Given the description of an element on the screen output the (x, y) to click on. 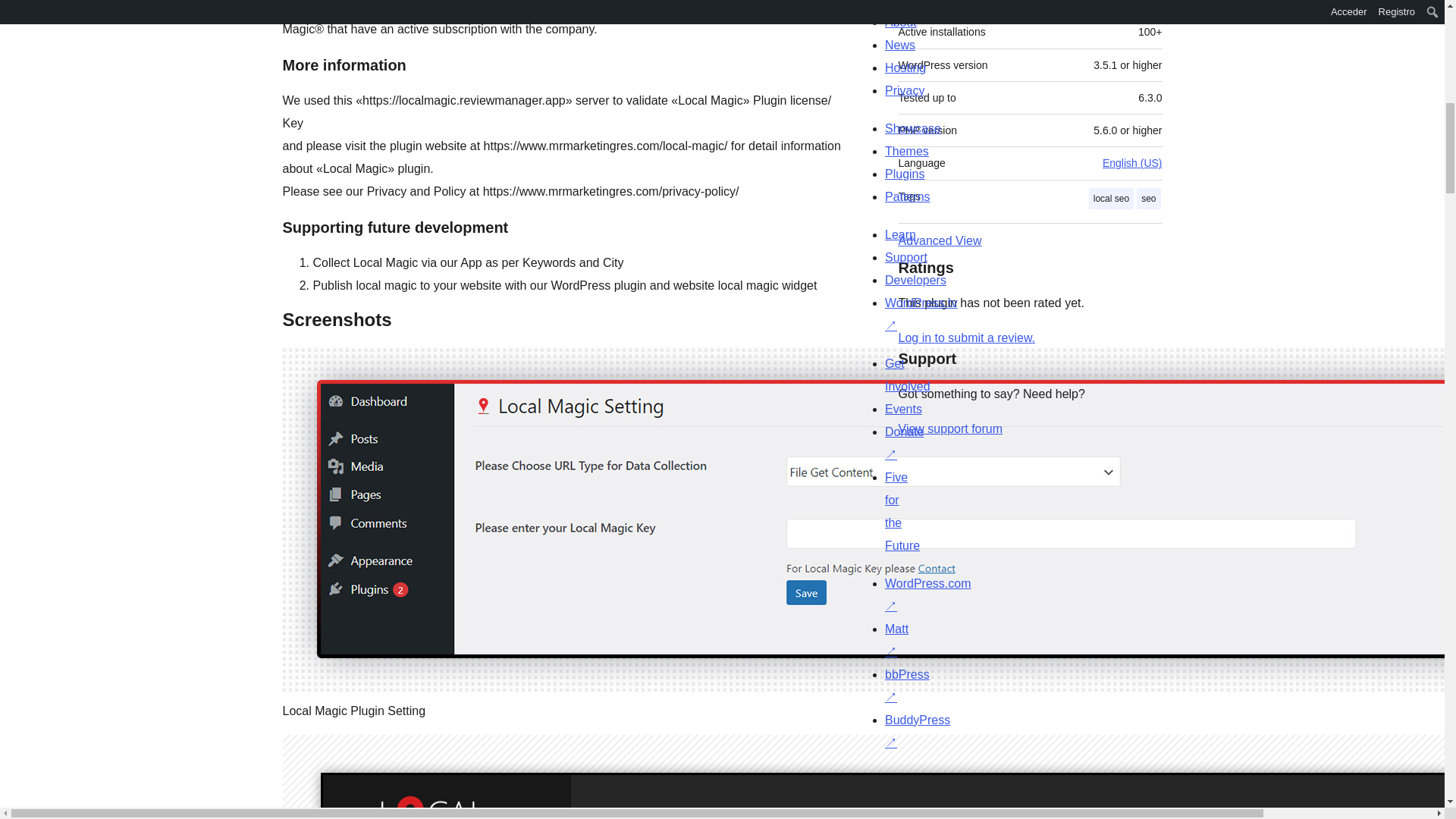
WordPress.org (1014, 773)
Log in to WordPress.org (966, 337)
WordPress.org (864, 773)
